Given the description of an element on the screen output the (x, y) to click on. 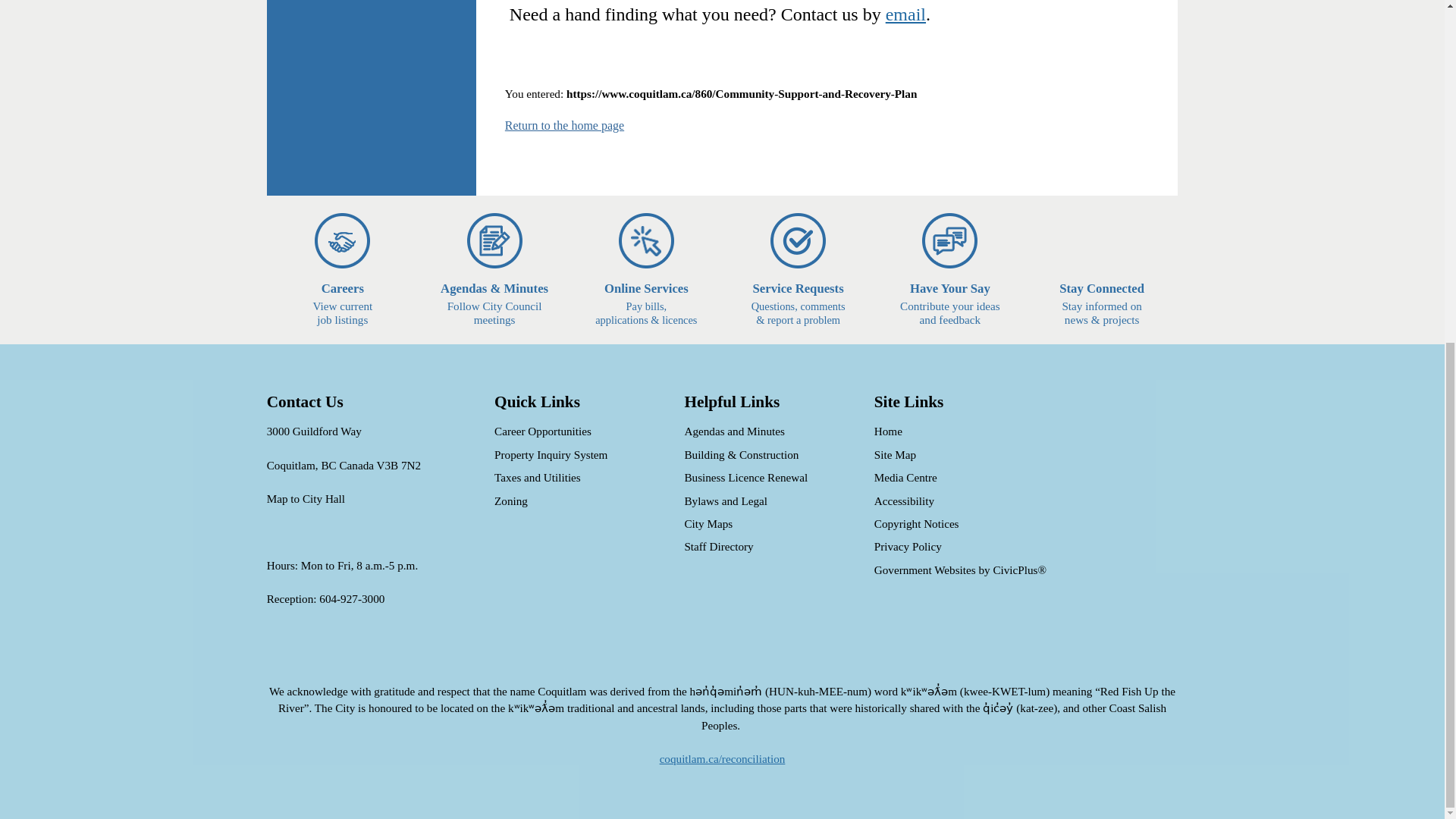
604-927-3000 (342, 269)
Twitter (351, 598)
Facebook (319, 655)
email (280, 655)
YouTube (905, 14)
Instagram (396, 655)
Return to the home page (357, 655)
LinkedIn (564, 124)
Map to City Hall (435, 655)
